Given the description of an element on the screen output the (x, y) to click on. 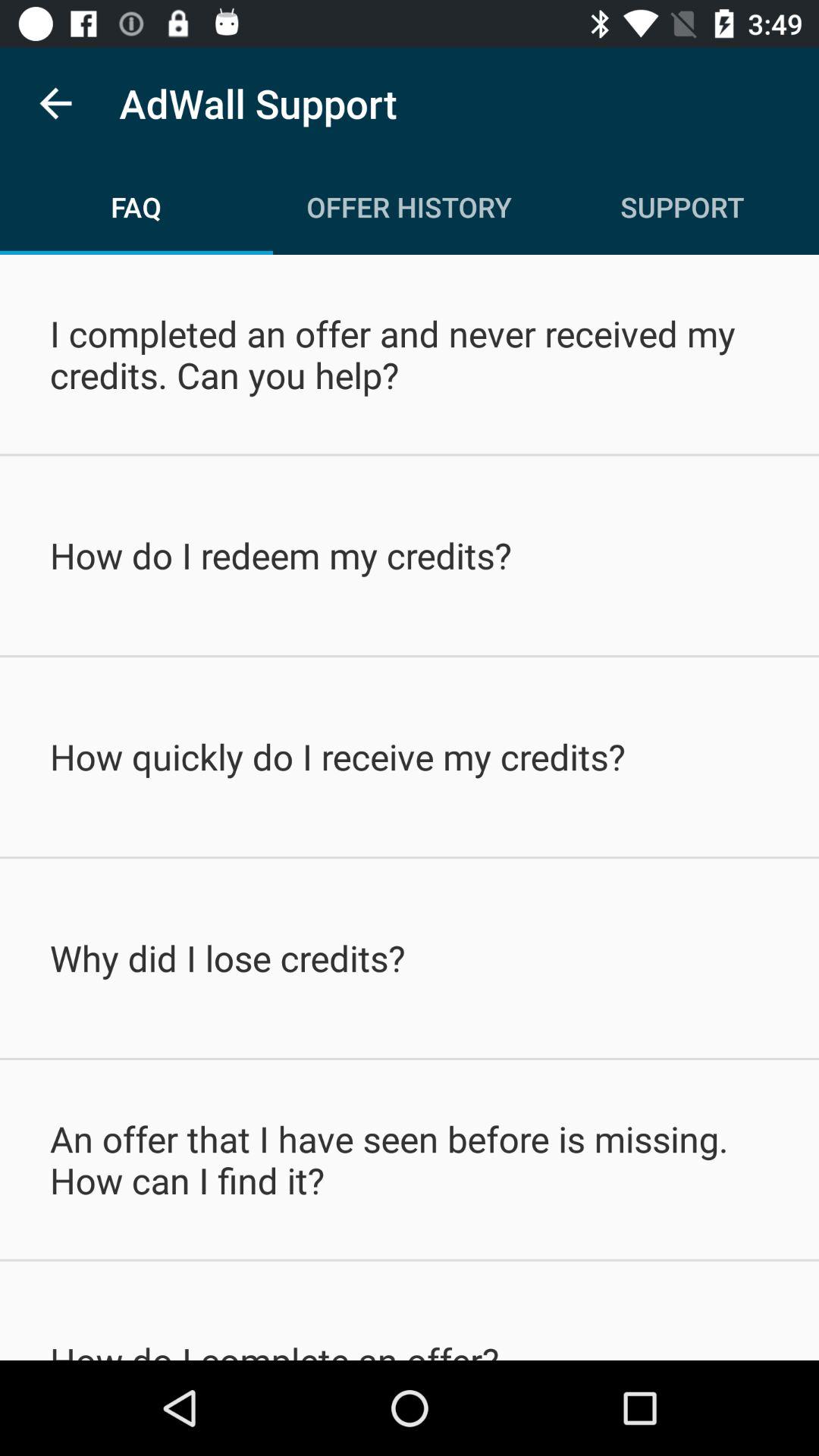
turn on item below how quickly do (409, 957)
